Given the description of an element on the screen output the (x, y) to click on. 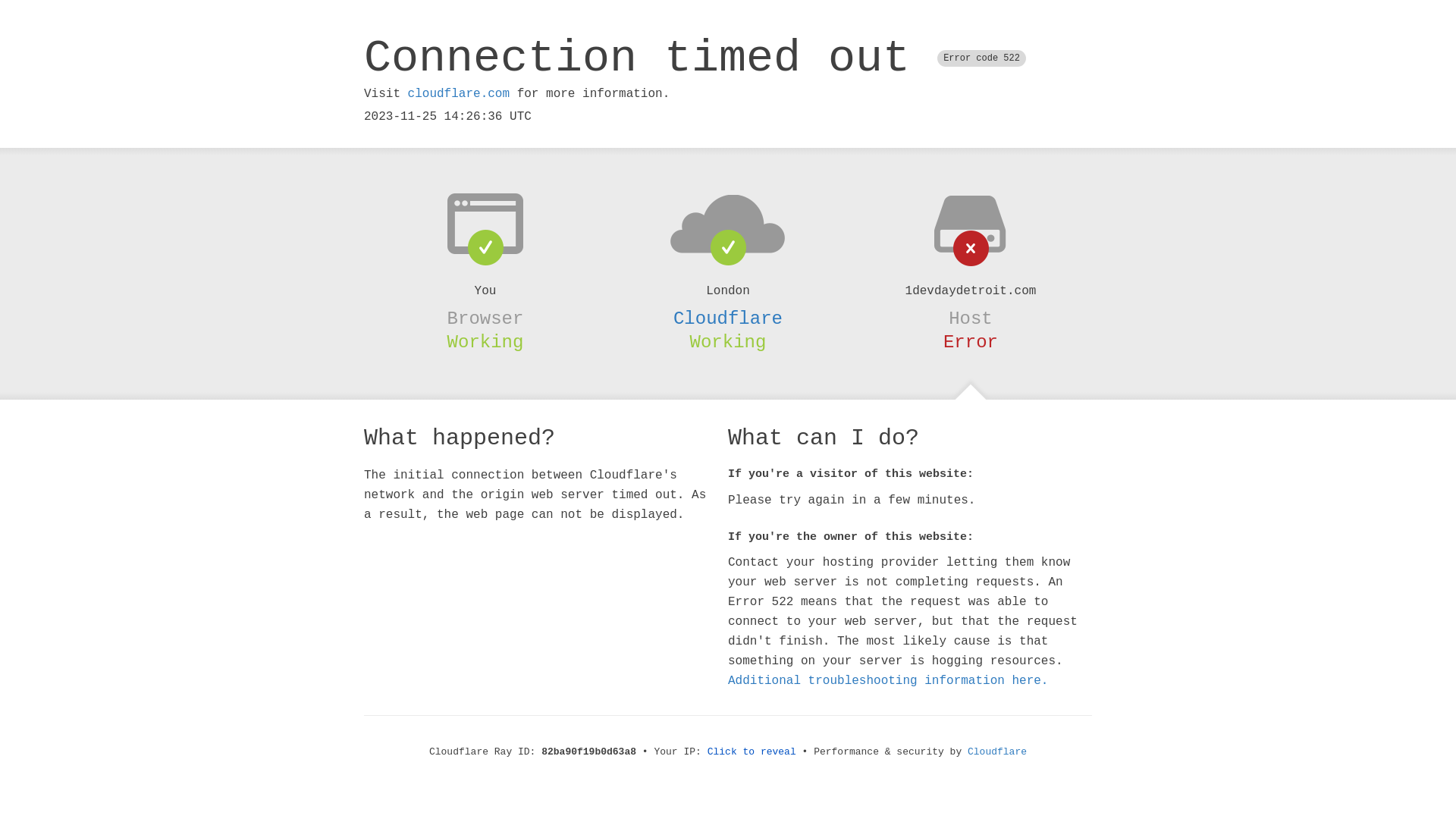
Cloudflare Element type: text (996, 751)
Additional troubleshooting information here. Element type: text (888, 680)
cloudflare.com Element type: text (458, 93)
Cloudflare Element type: text (727, 318)
Click to reveal Element type: text (751, 751)
